Given the description of an element on the screen output the (x, y) to click on. 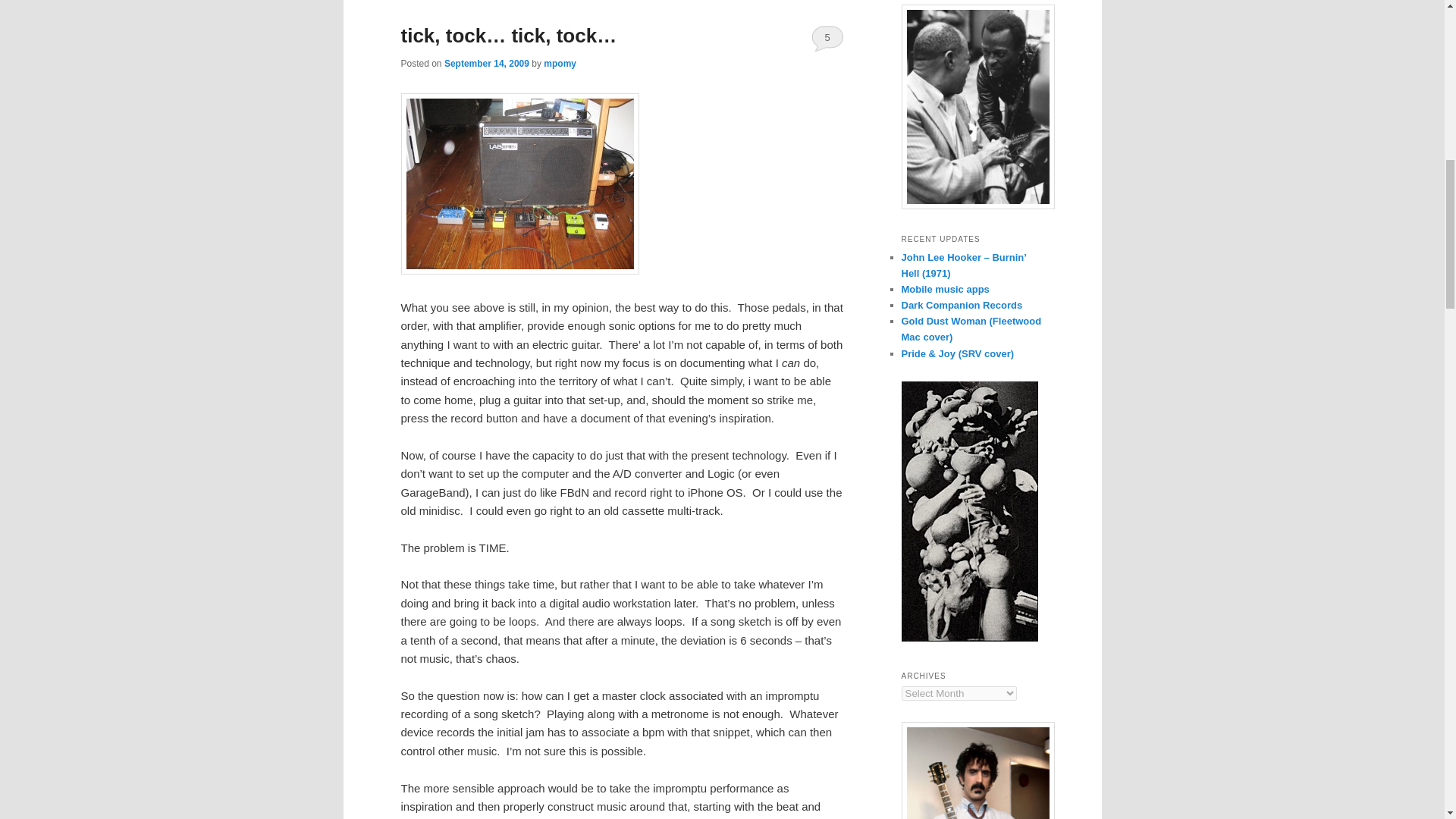
5:15 pm (486, 63)
September 14, 2009 (486, 63)
5 (827, 37)
mpomy (559, 63)
View all posts by mpomy (559, 63)
